Given the description of an element on the screen output the (x, y) to click on. 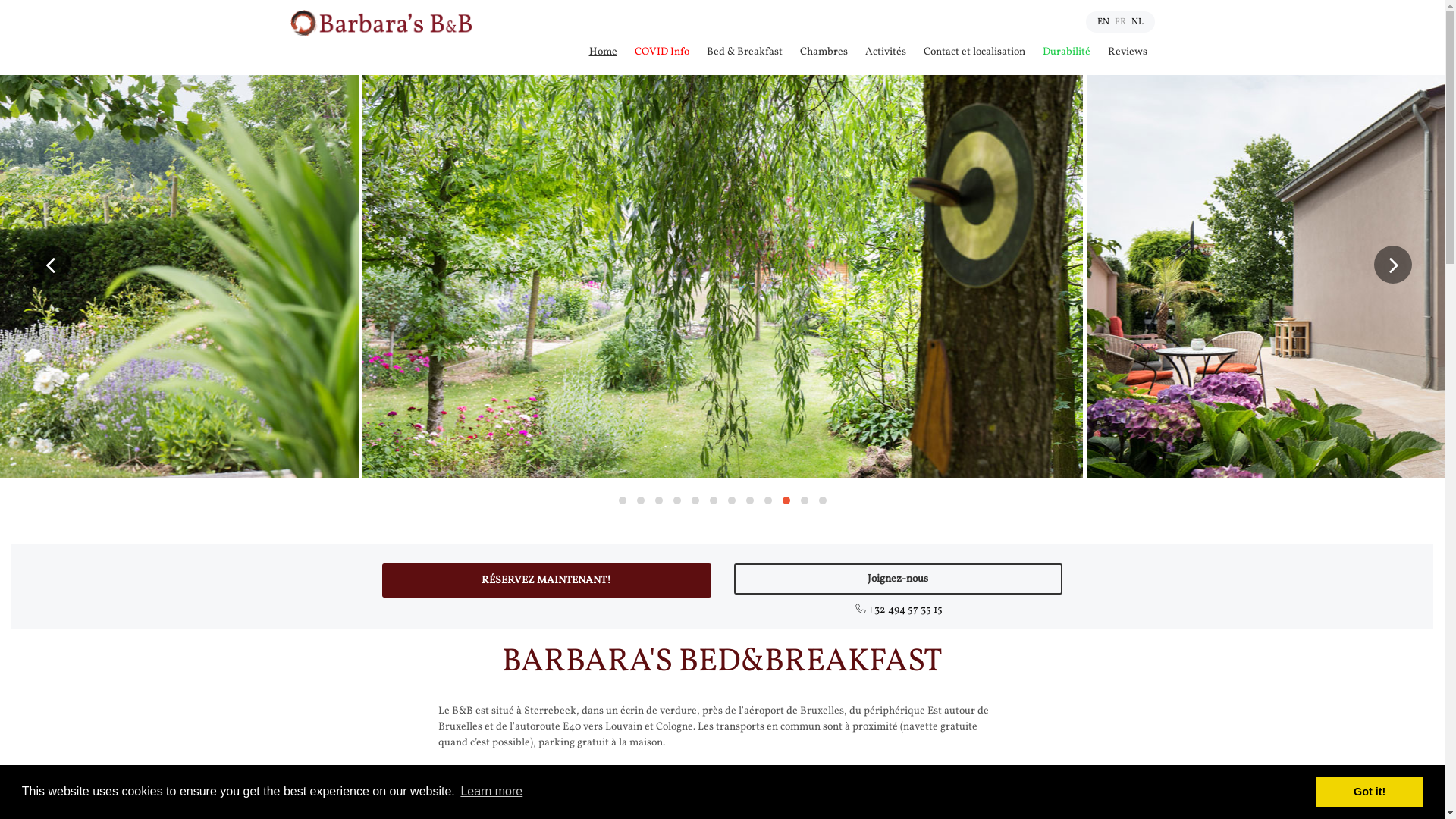
Bed & Breakfast Element type: text (744, 51)
Joignez-nous Element type: text (898, 578)
EN Element type: text (1102, 21)
Reviews Element type: text (1126, 51)
+32 494 57 35 15 Element type: text (898, 610)
COVID Info Element type: text (661, 51)
Chambres Element type: text (822, 51)
FR Element type: text (1120, 21)
Learn more Element type: text (491, 791)
NL Element type: text (1137, 21)
Got it! Element type: text (1369, 791)
Home Element type: text (602, 51)
Contact et localisation Element type: text (974, 51)
